Given the description of an element on the screen output the (x, y) to click on. 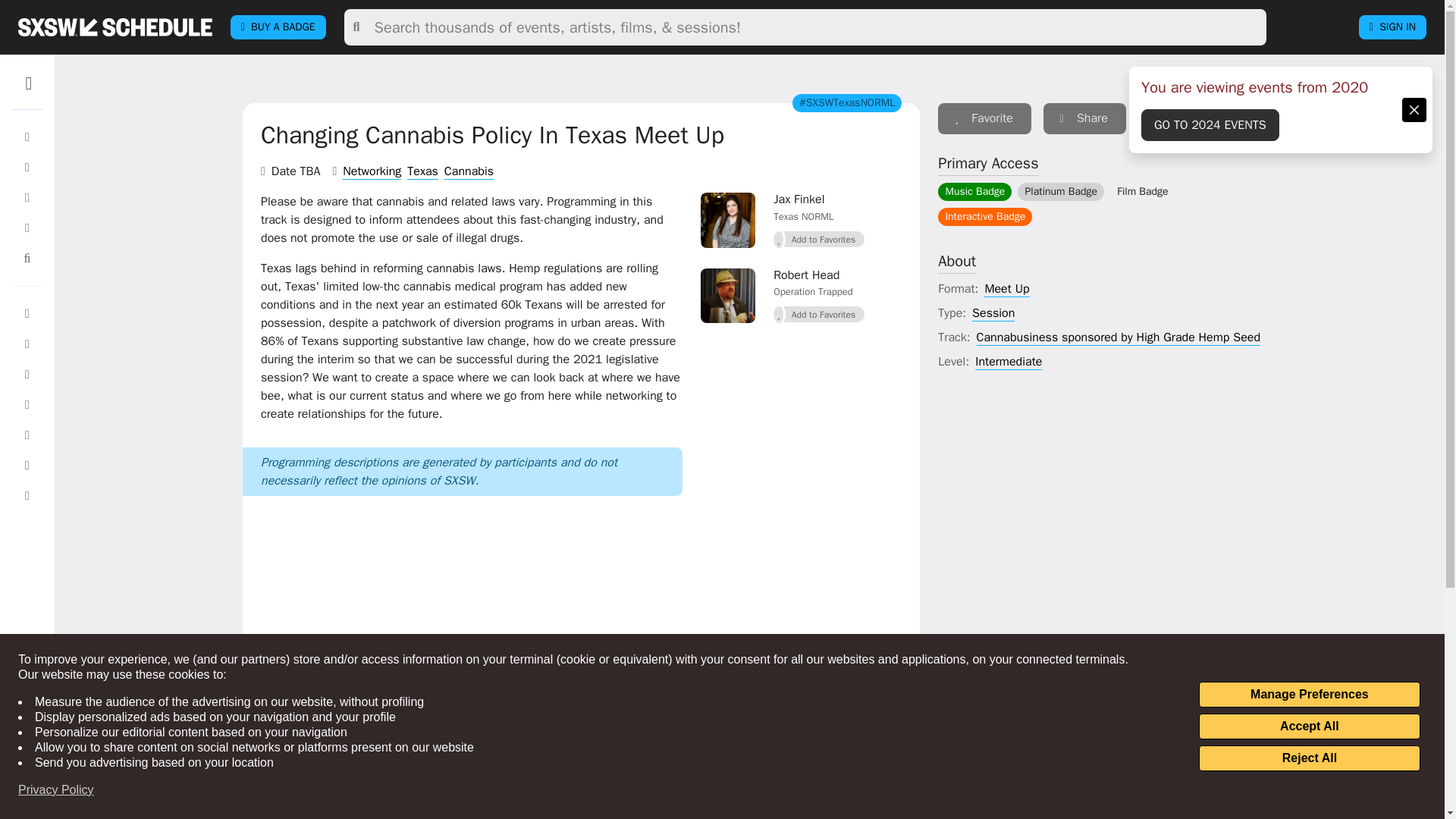
Accept All (1309, 726)
BUY A BADGE (278, 27)
Reject All (1309, 758)
Manage Preferences (1309, 694)
SIGN IN (1392, 27)
Sign In to add to your favorites. (983, 118)
Sign In to add to your favorites. (818, 239)
Privacy Policy (55, 789)
sxsw SCHEDULE (114, 27)
GO TO 2024 EVENTS (1210, 124)
Networking (371, 171)
Sign In to add to your favorites. (818, 314)
